Given the description of an element on the screen output the (x, y) to click on. 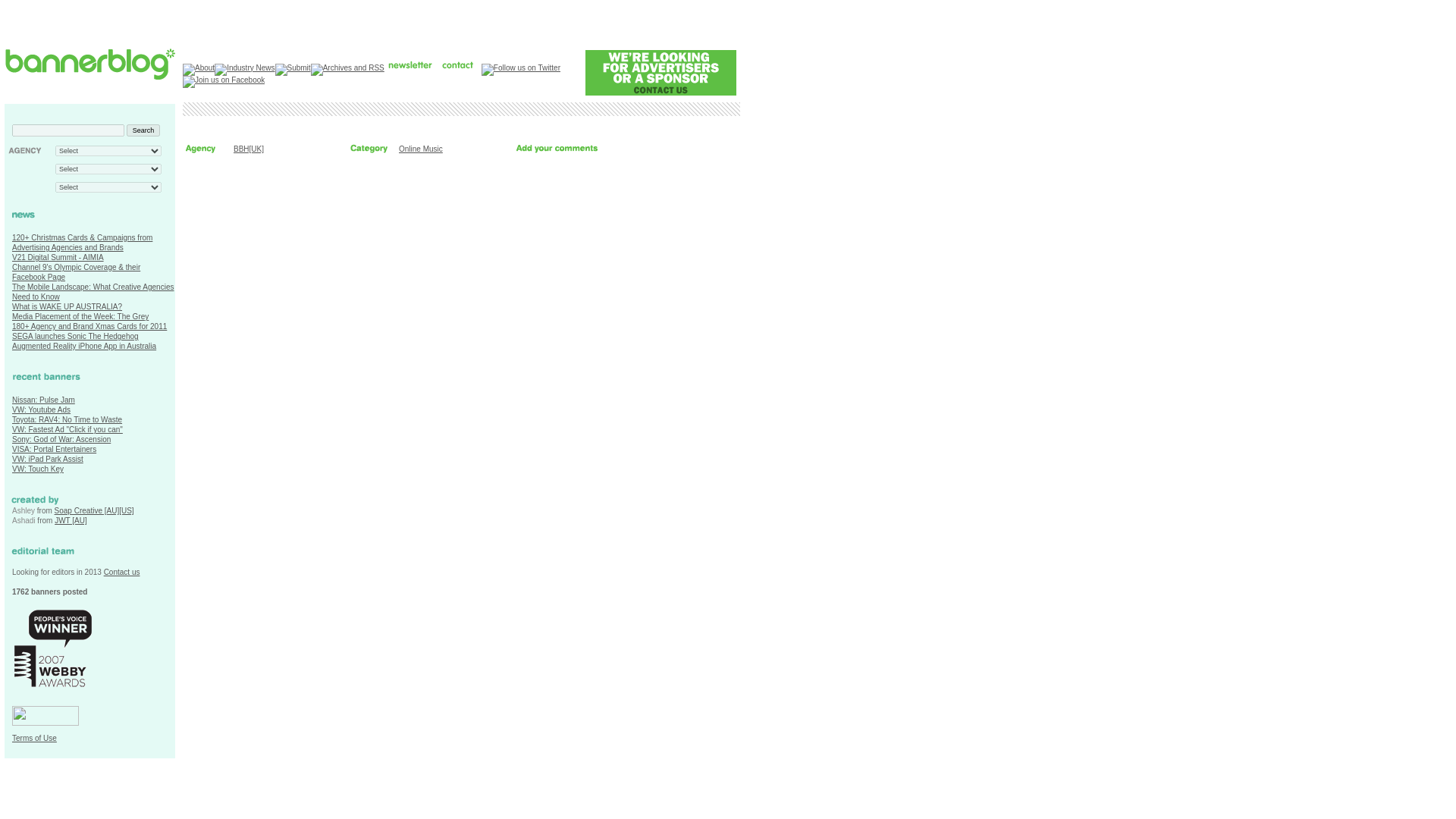
What is WAKE UP AUSTRALIA? (66, 306)
The Mobile Landscape: What Creative Agencies Need to Know (92, 291)
Submit (292, 69)
VISA: Portal Entertainers (53, 449)
Ashley (22, 510)
Online Music (420, 148)
Subscribe (411, 63)
Subscribe to the banner feed (17, 388)
Media Placement of the Week: The Grey (79, 316)
Toyota: RAV4: No Time to Waste (66, 419)
Contact (457, 63)
Terms of Use (33, 737)
Search (143, 130)
About (198, 69)
VW: Touch Key (37, 469)
